Given the description of an element on the screen output the (x, y) to click on. 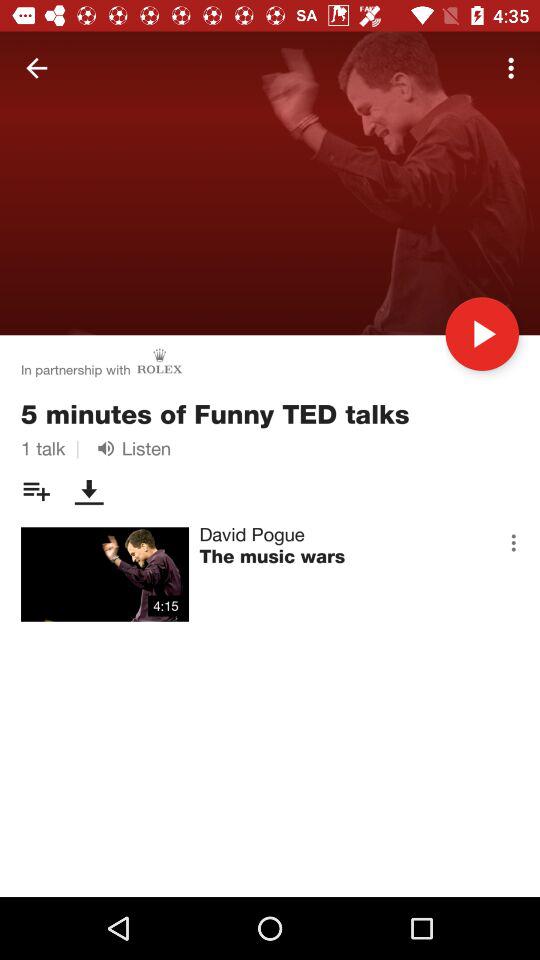
turn off icon at the top left corner (36, 68)
